Given the description of an element on the screen output the (x, y) to click on. 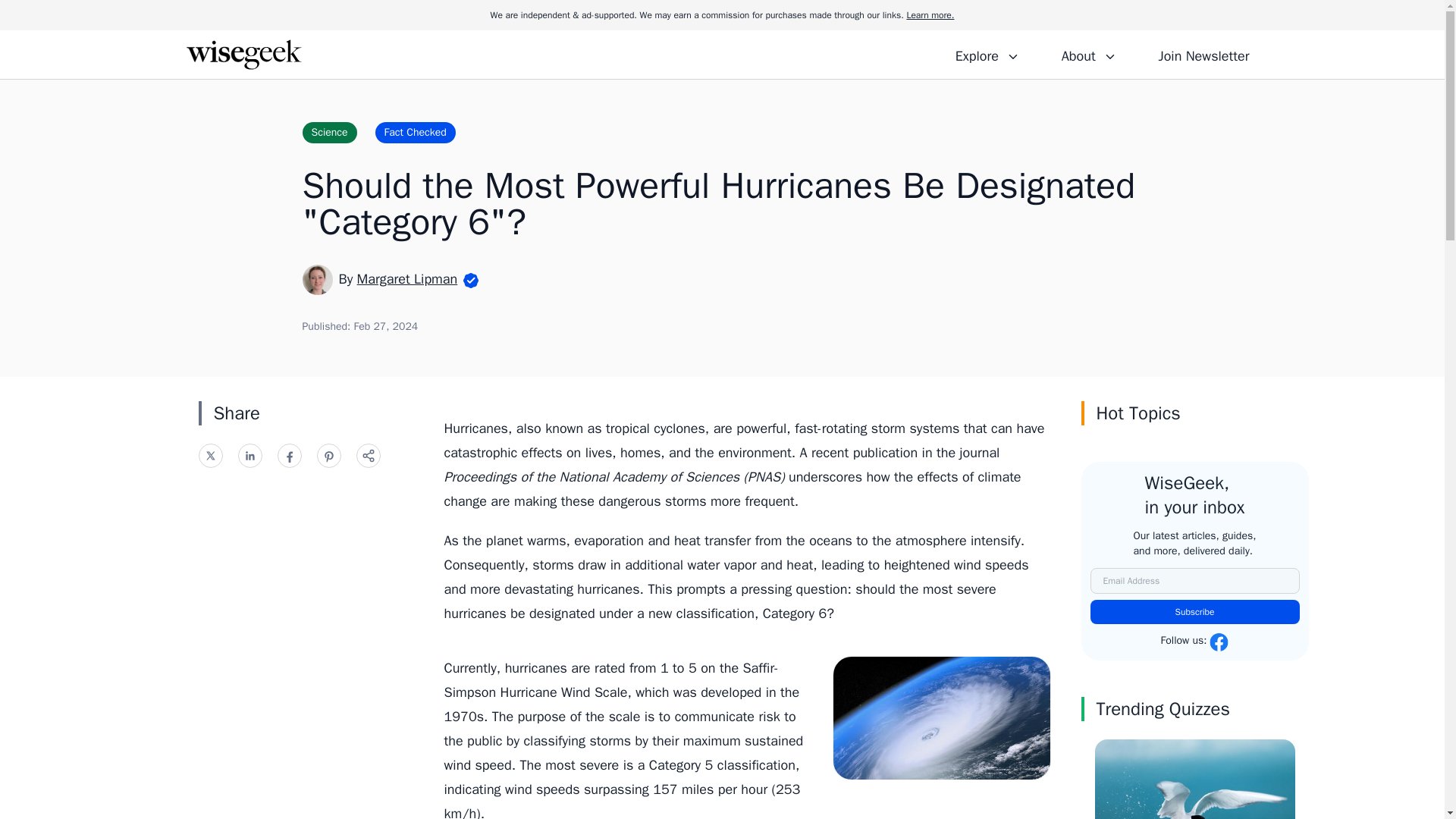
Explore (986, 54)
Science (328, 132)
Follow us: (1194, 642)
Join Newsletter (1202, 54)
Fact Checked (415, 132)
About (1088, 54)
Learn more. (929, 15)
Margaret Lipman (407, 279)
Subscribe (1195, 611)
